Given the description of an element on the screen output the (x, y) to click on. 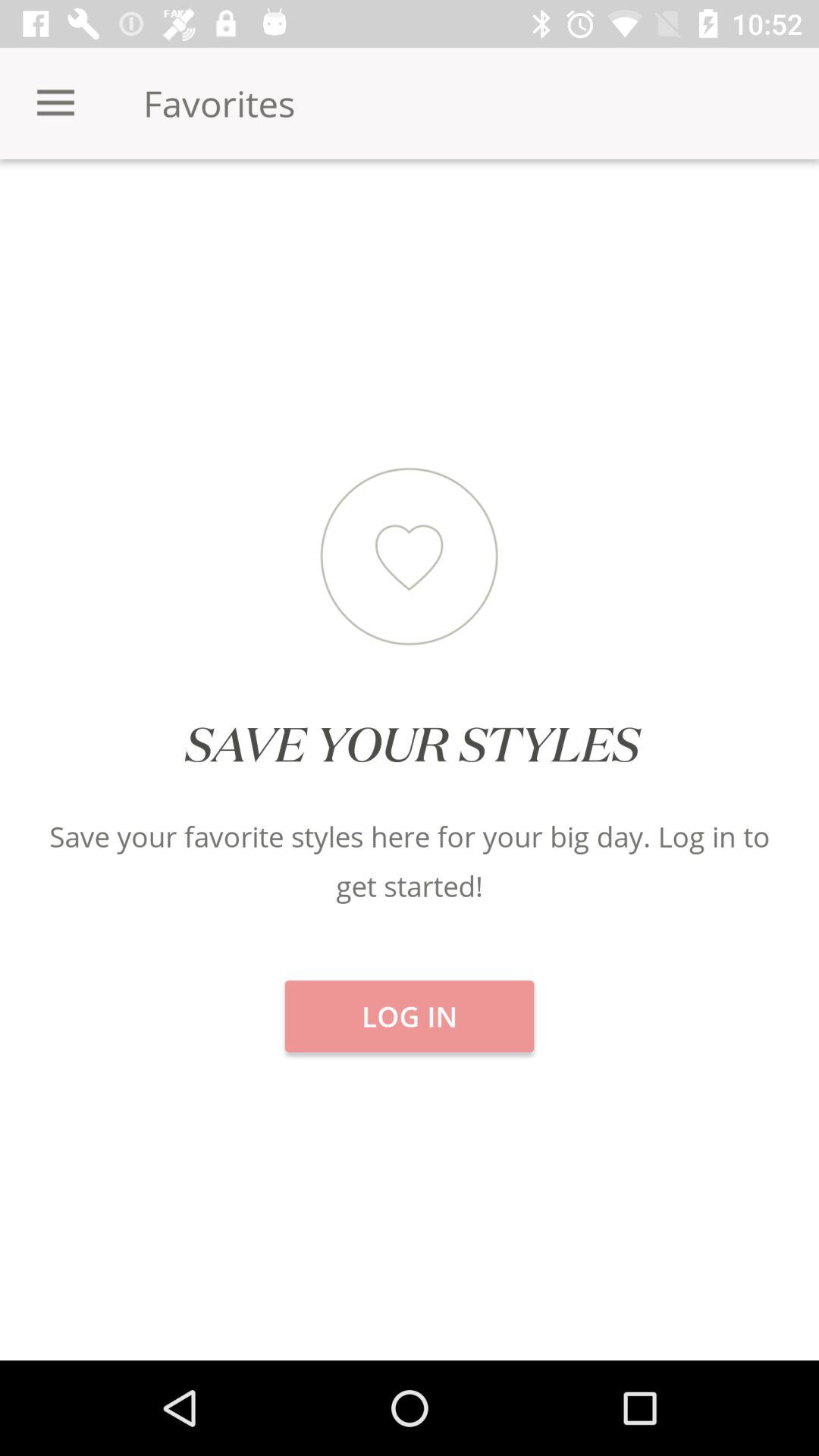
swipe to brands (682, 212)
